Given the description of an element on the screen output the (x, y) to click on. 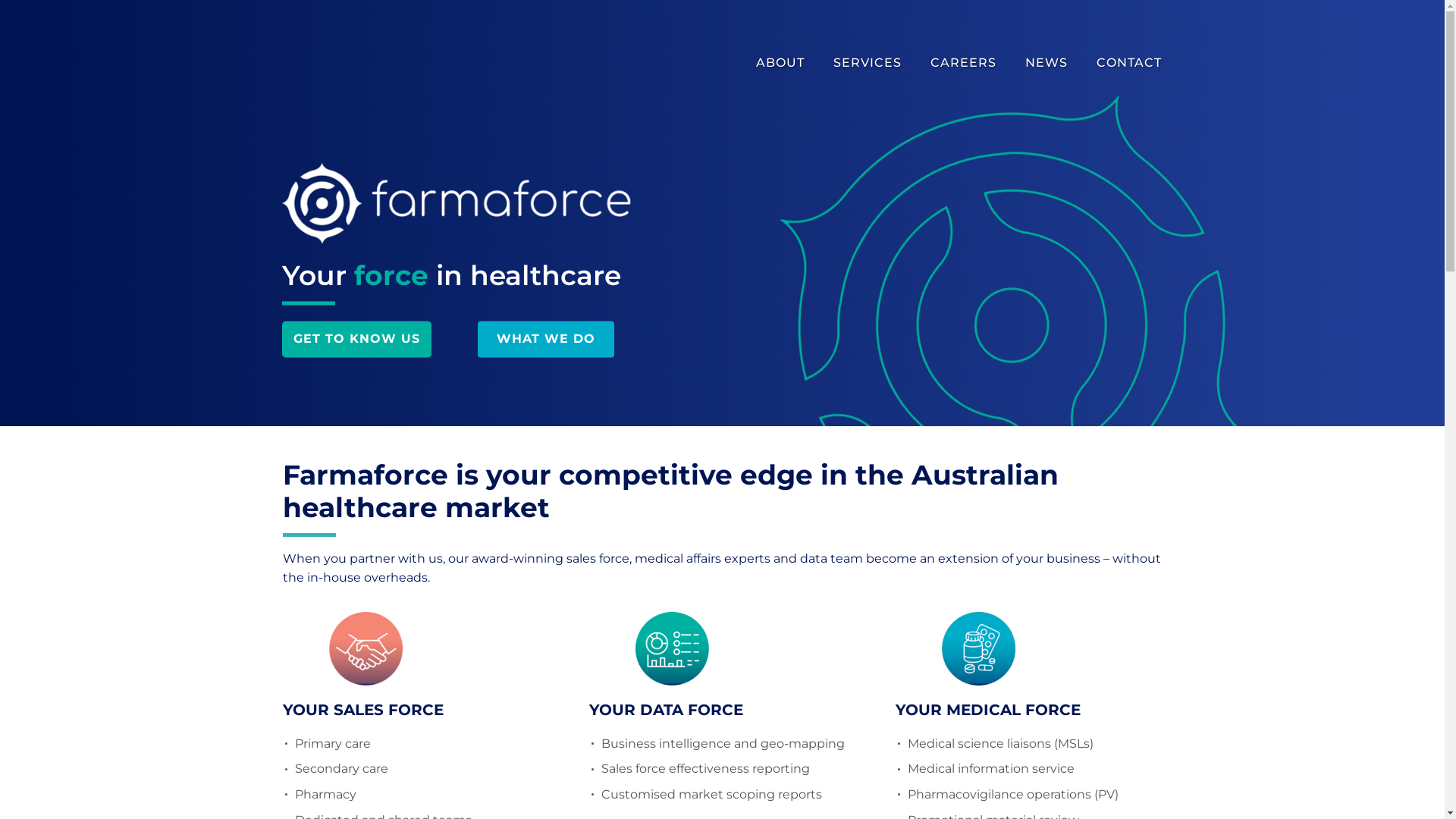
YOUR DATA FORCE Element type: text (665, 709)
GET TO KNOW US Element type: text (356, 339)
SERVICES Element type: text (867, 62)
NEWS Element type: text (1046, 62)
YOUR MEDICAL FORCE Element type: text (986, 709)
CAREERS Element type: text (963, 62)
CONTACT Element type: text (1126, 62)
WHAT WE DO Element type: text (545, 339)
ABOUT Element type: text (782, 62)
YOUR SALES FORCE Element type: text (362, 709)
